Given the description of an element on the screen output the (x, y) to click on. 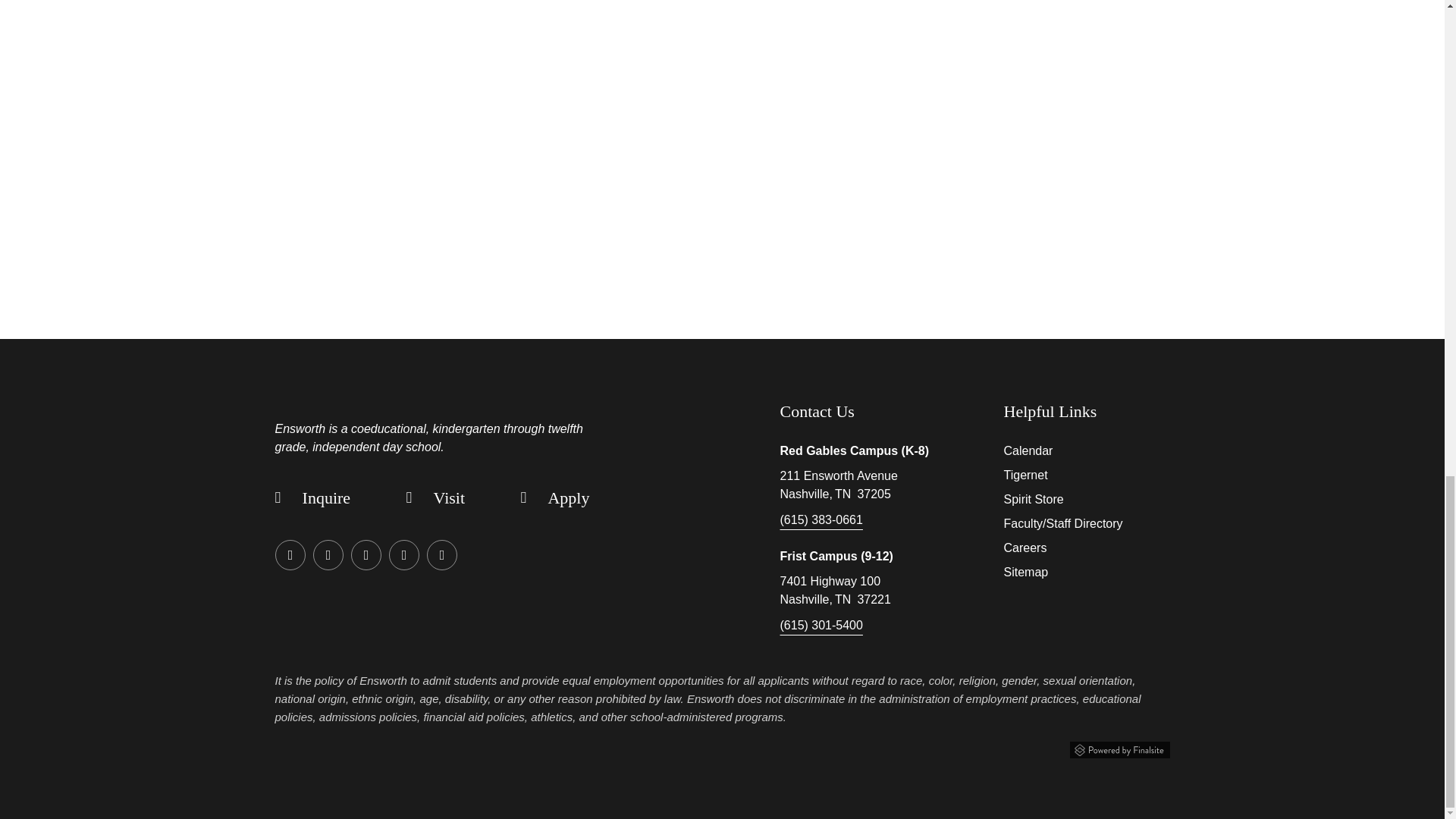
Powered by Finalsite opens in a new window (1118, 750)
